Given the description of an element on the screen output the (x, y) to click on. 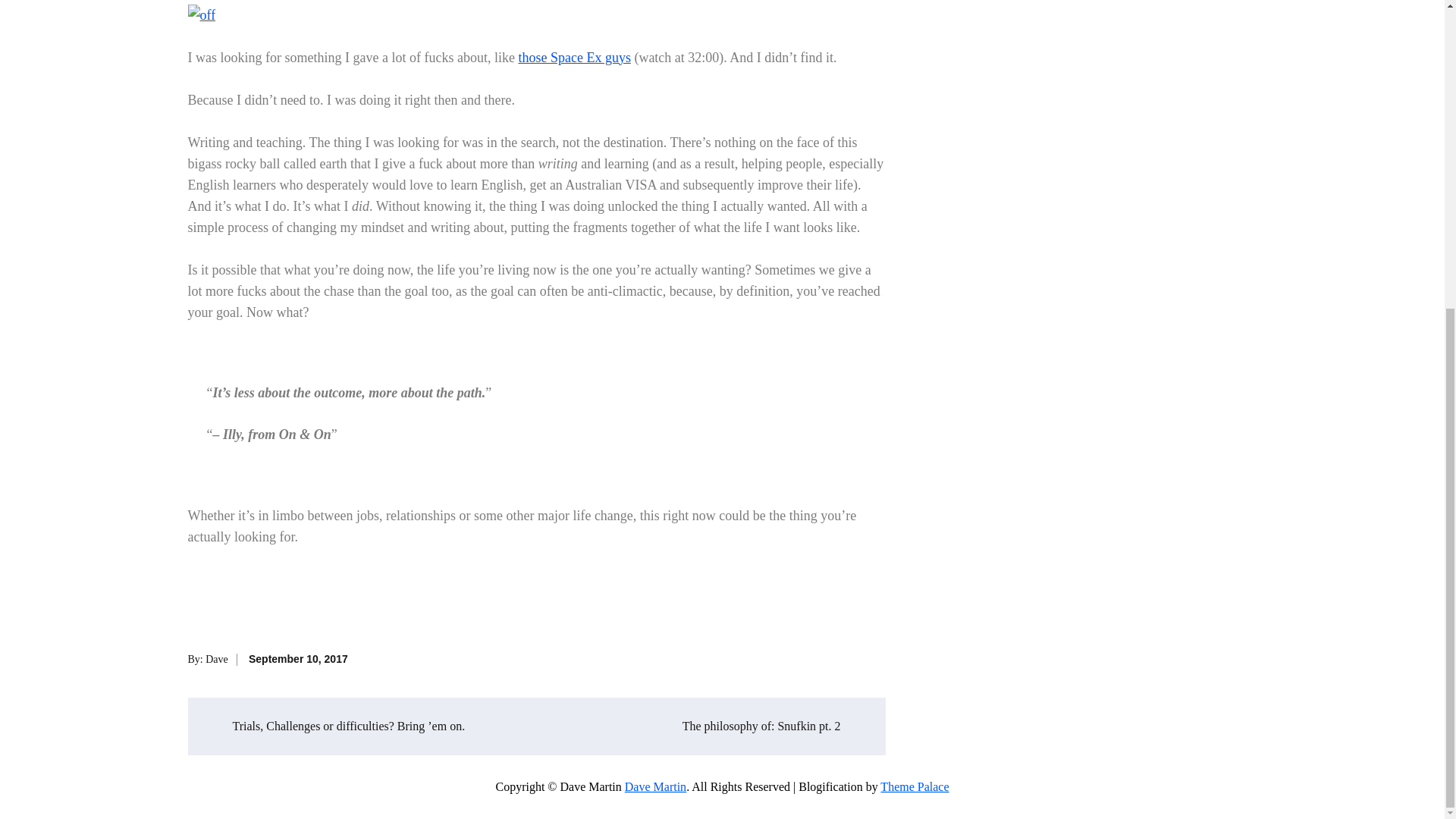
Theme Palace (914, 786)
Dave (216, 658)
Dave Martin (654, 786)
those Space Ex guys (574, 57)
September 10, 2017 (297, 658)
